Given the description of an element on the screen output the (x, y) to click on. 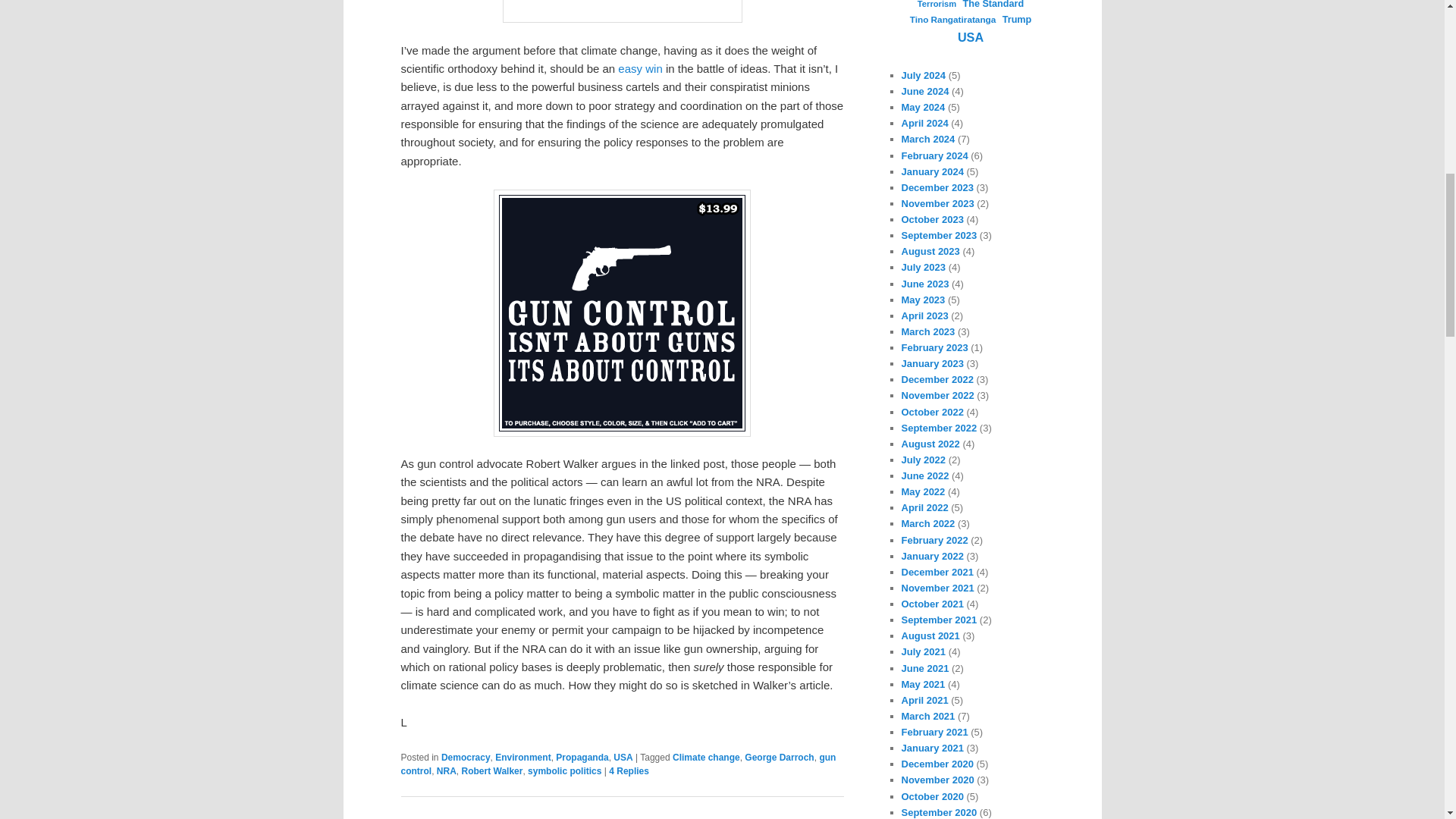
George Darroch (778, 757)
Environment (522, 757)
symbolic politics (564, 770)
4 Replies (628, 770)
Propaganda (582, 757)
USA (621, 757)
NRA (446, 770)
Climate change (705, 757)
gun control (617, 764)
fail (621, 11)
Robert Walker (491, 770)
control (622, 312)
Democracy (465, 757)
easy win (639, 68)
